Given the description of an element on the screen output the (x, y) to click on. 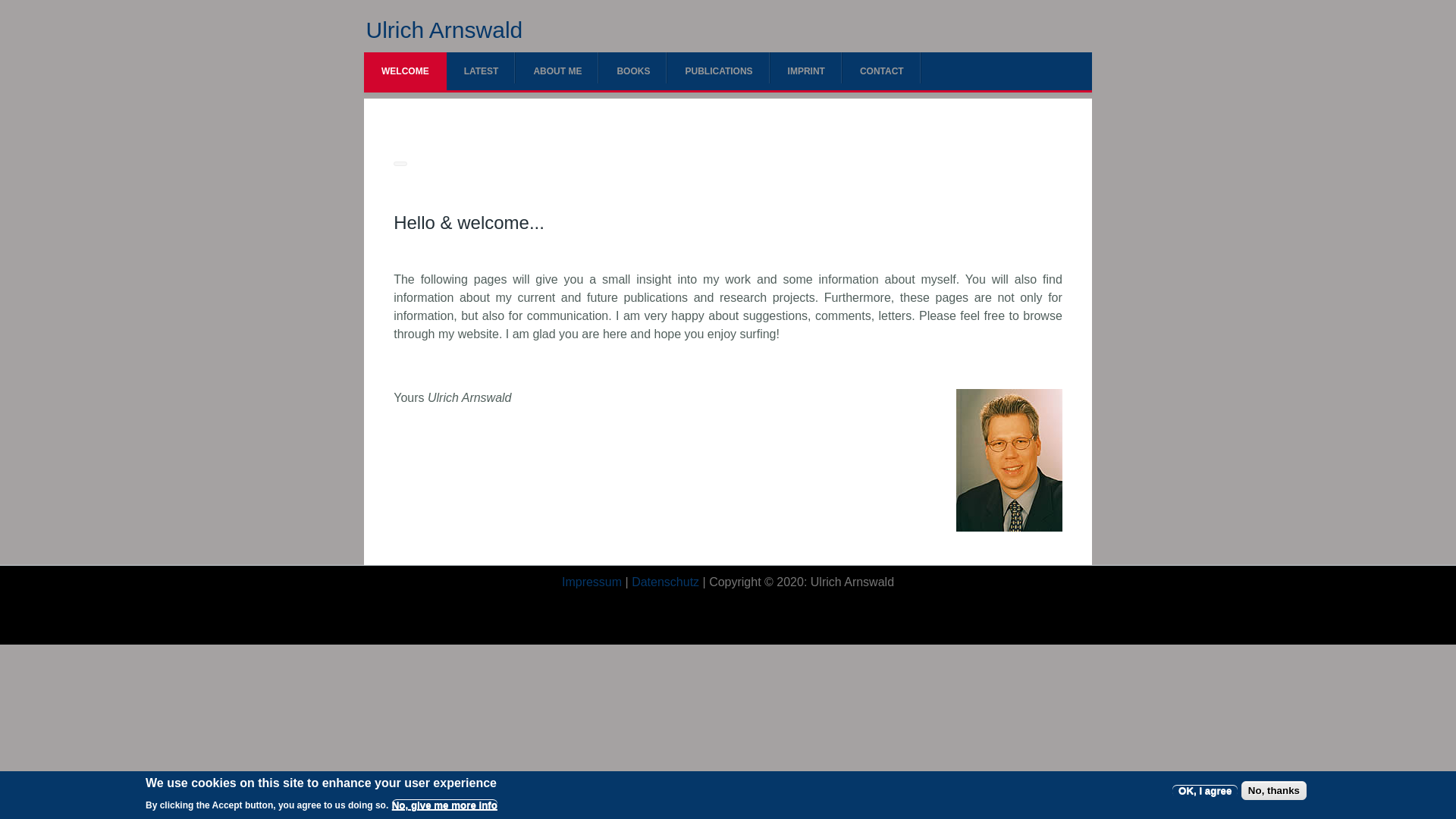
Impressum (591, 581)
LATEST (481, 71)
Datenschutz (664, 581)
PUBLICATIONS (718, 71)
Startseite (443, 29)
ABOUT ME (556, 71)
CONTACT (882, 71)
BOOKS (632, 71)
Ulrich Arnswald (443, 29)
WELCOME (405, 71)
